Given the description of an element on the screen output the (x, y) to click on. 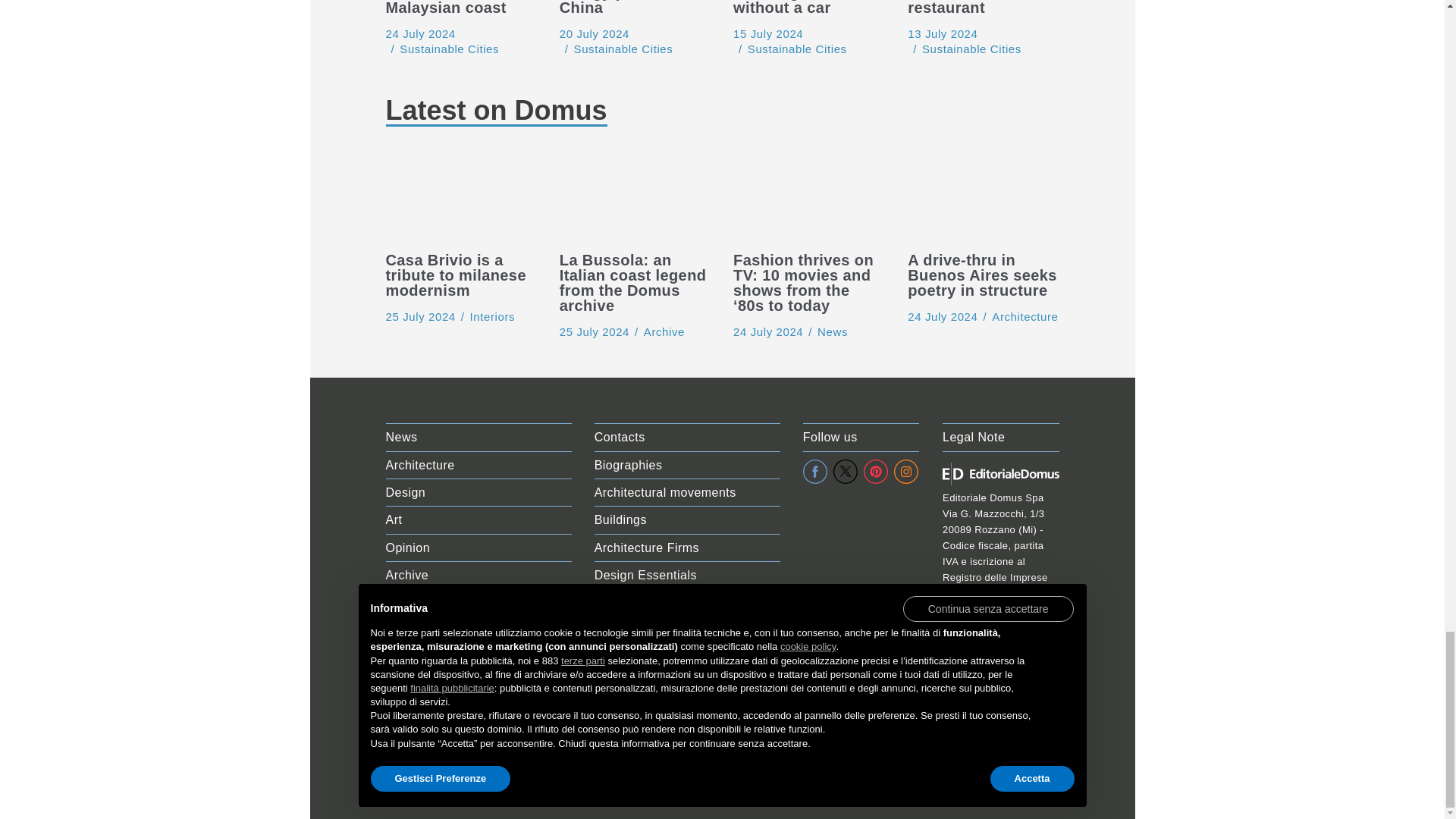
A drive-thru in Buenos Aires seeks poetry in structure (982, 197)
La Bussola: an Italian coast legend from the Domus archive (634, 197)
A sustainable hydrogen-inspired energy park in China (593, 33)
Casa Brivio is a tribute to milanese modernism  (419, 316)
In Singapore, a robotic, self-sufficient restaurant (941, 33)
A drive-thru in Buenos Aires seeks poetry in structure (941, 316)
La Bussola: an Italian coast legend from the Domus archive (593, 331)
Casa Brivio is a tribute to milanese modernism  (460, 197)
